Given the description of an element on the screen output the (x, y) to click on. 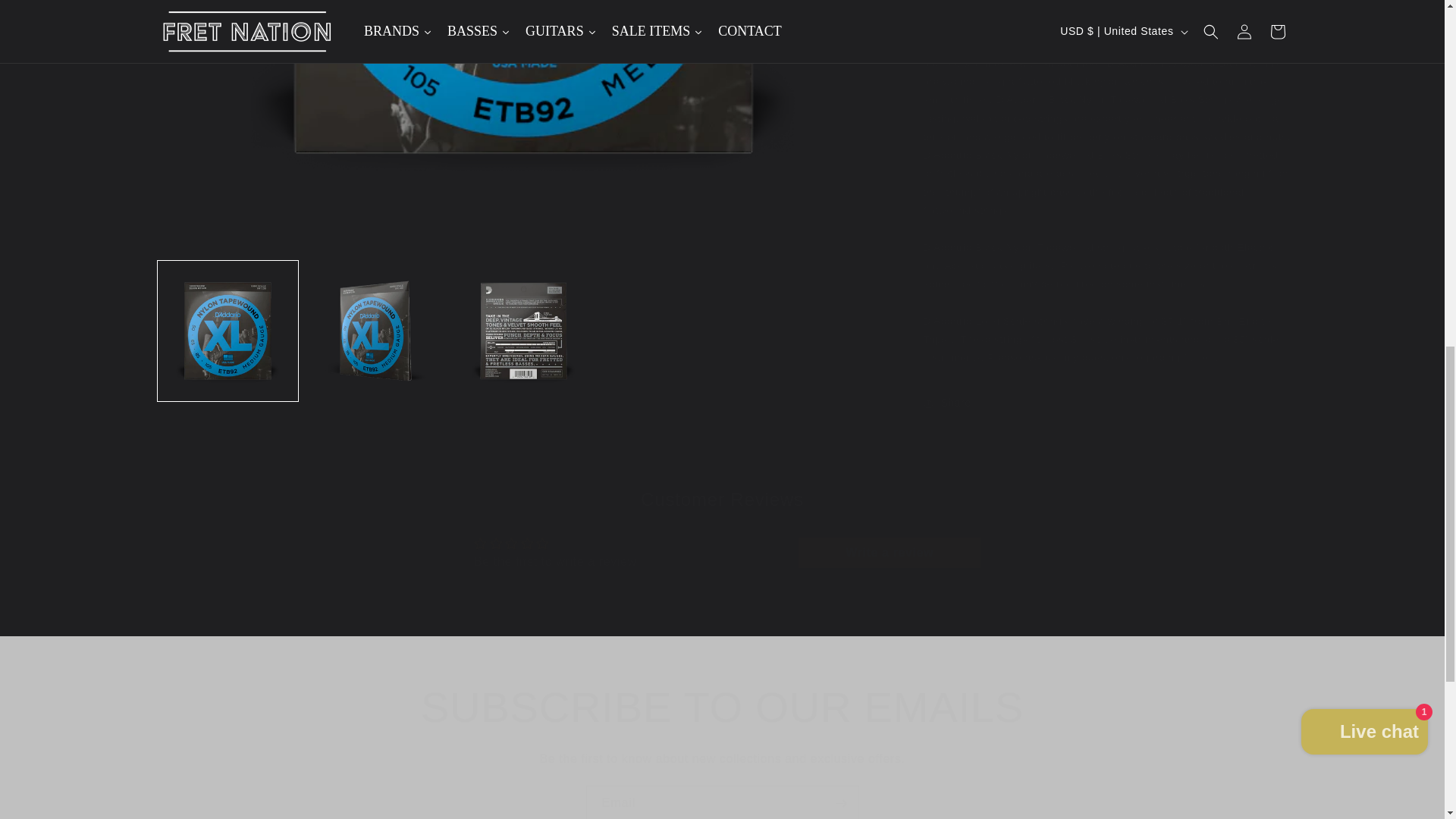
Email (722, 802)
SUBSCRIBE TO OUR EMAILS (721, 707)
